Given the description of an element on the screen output the (x, y) to click on. 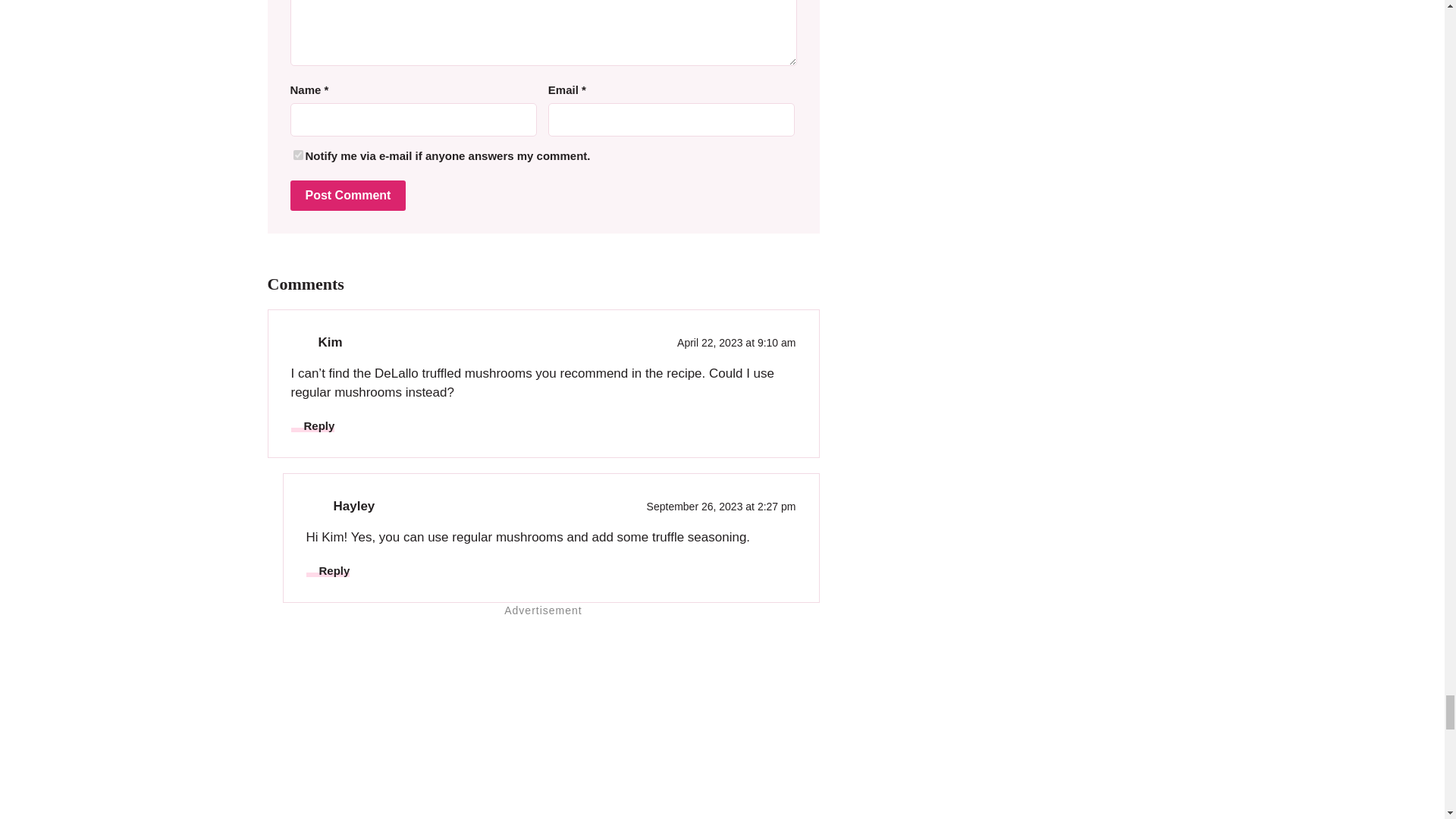
on (297, 154)
Post Comment (347, 195)
